Given the description of an element on the screen output the (x, y) to click on. 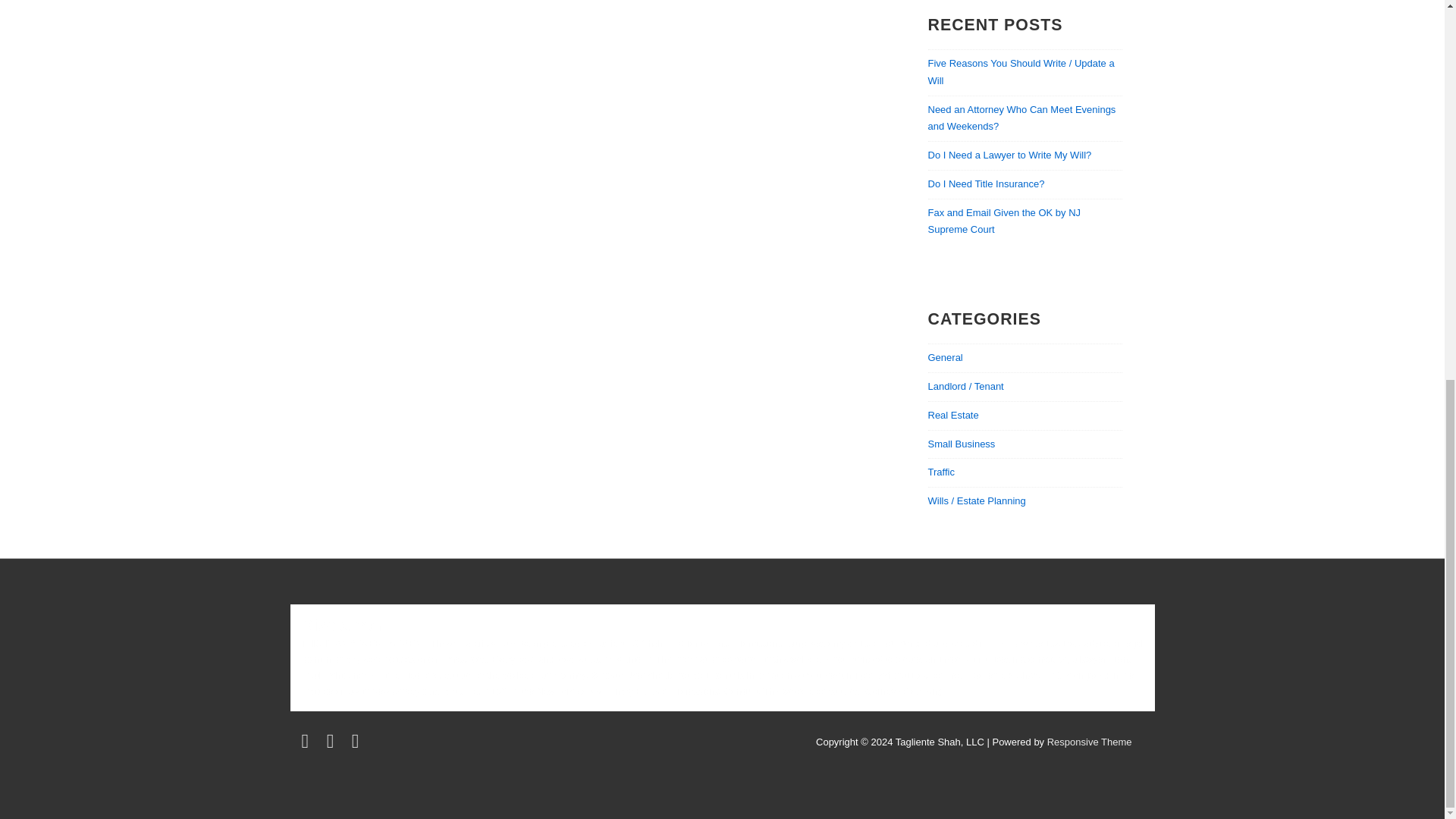
Do I Need Title Insurance? (986, 183)
Do I Need a Lawyer to Write My Will? (1010, 154)
linkedin (357, 744)
Real Estate (953, 414)
Need an Attorney Who Can Meet Evenings and Weekends? (1022, 118)
twitter (308, 744)
Small Business (961, 443)
Fax and Email Given the OK by NJ Supreme Court (1004, 221)
General (945, 357)
facebook (333, 744)
